Given the description of an element on the screen output the (x, y) to click on. 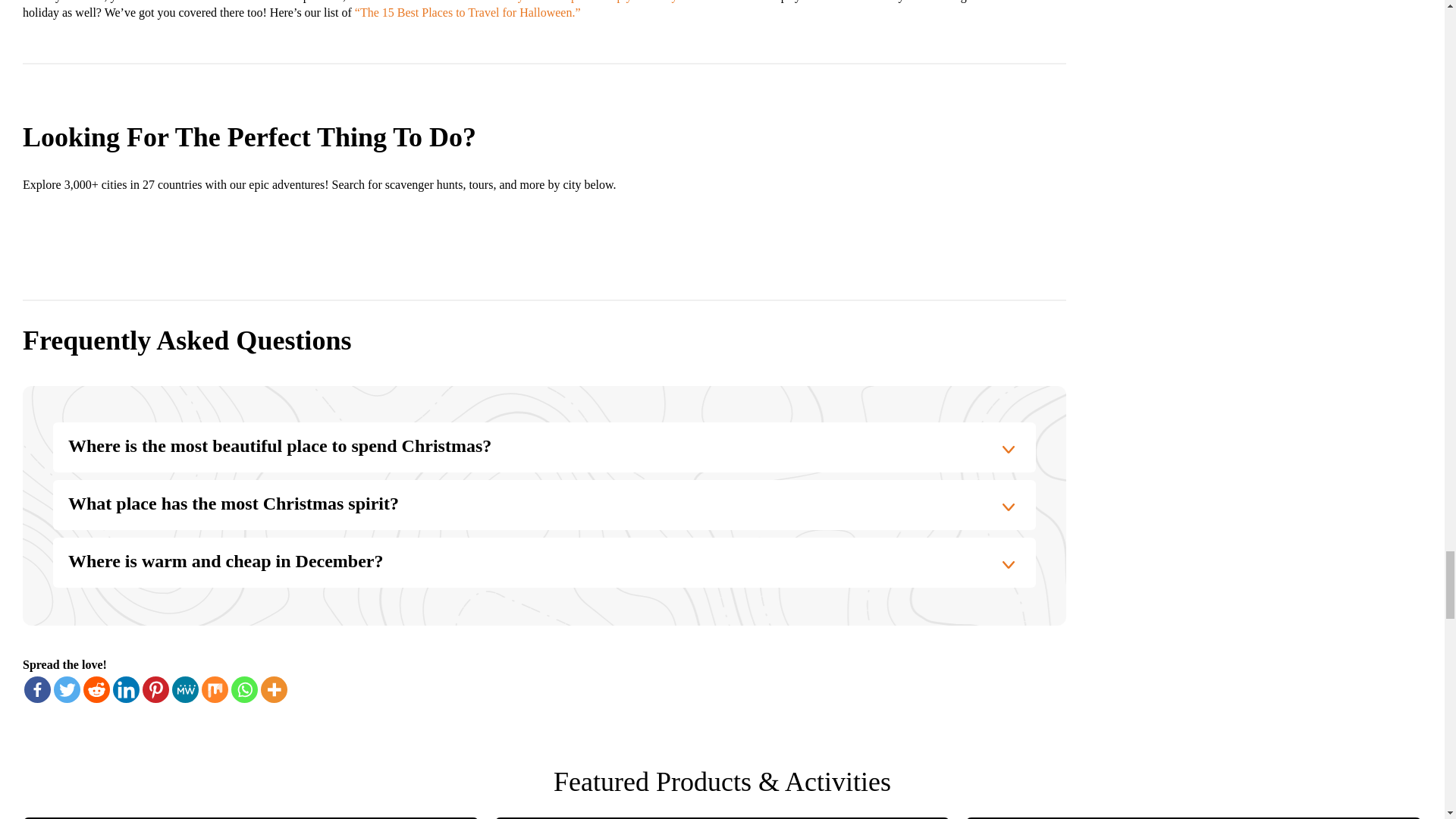
More (273, 689)
Pinterest (155, 689)
Linkedin (126, 689)
Mix (215, 689)
Facebook (37, 689)
MeWe (184, 689)
Twitter (66, 689)
Reddit (96, 689)
Whatsapp (244, 689)
